Given the description of an element on the screen output the (x, y) to click on. 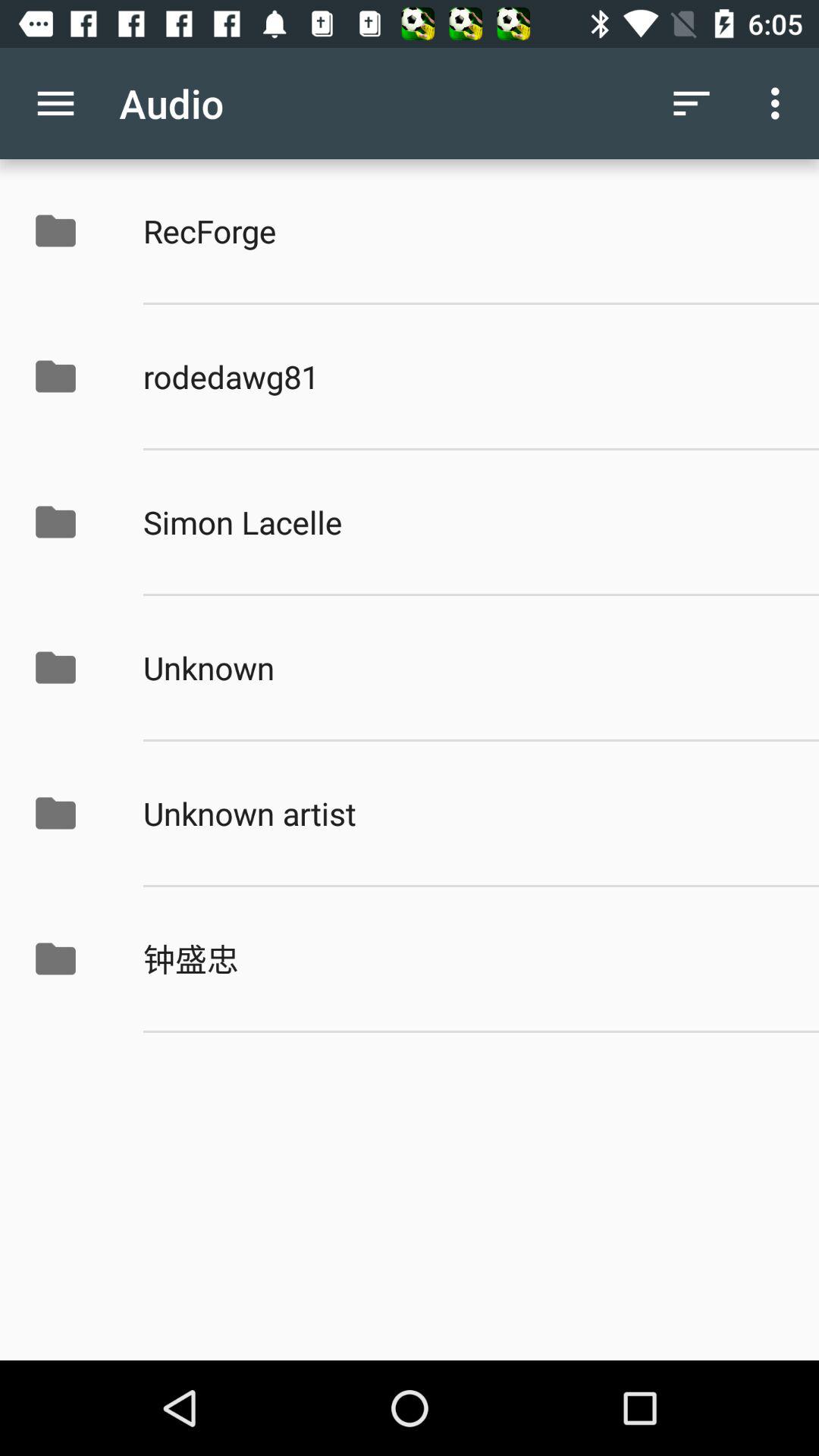
click the icon to the left of audio item (55, 103)
